Given the description of an element on the screen output the (x, y) to click on. 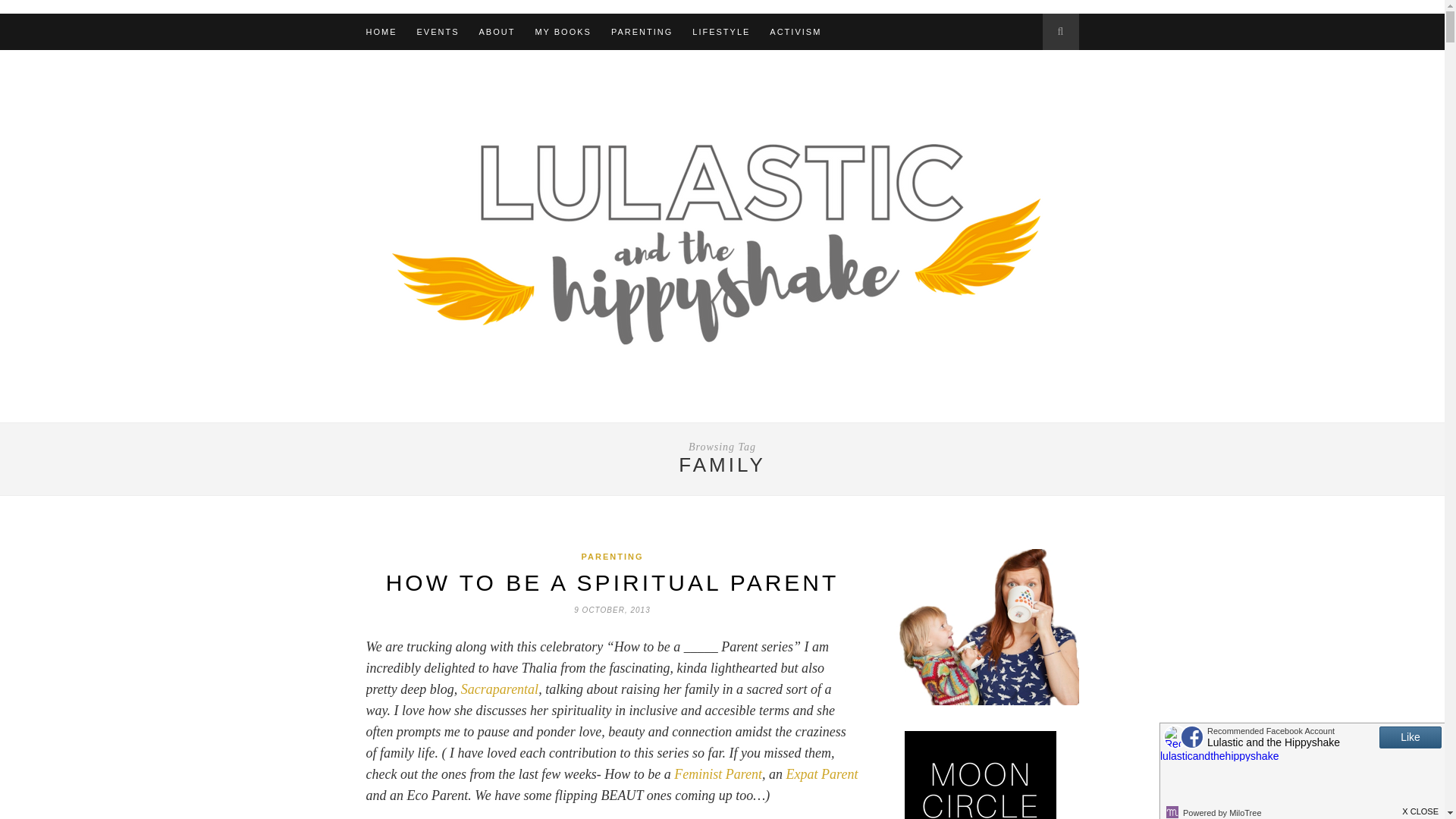
ACTIVISM (795, 31)
PARENTING (641, 31)
LIFESTYLE (721, 31)
MY BOOKS (562, 31)
View all posts in Parenting (611, 556)
ABOUT (497, 31)
EVENTS (438, 31)
